Given the description of an element on the screen output the (x, y) to click on. 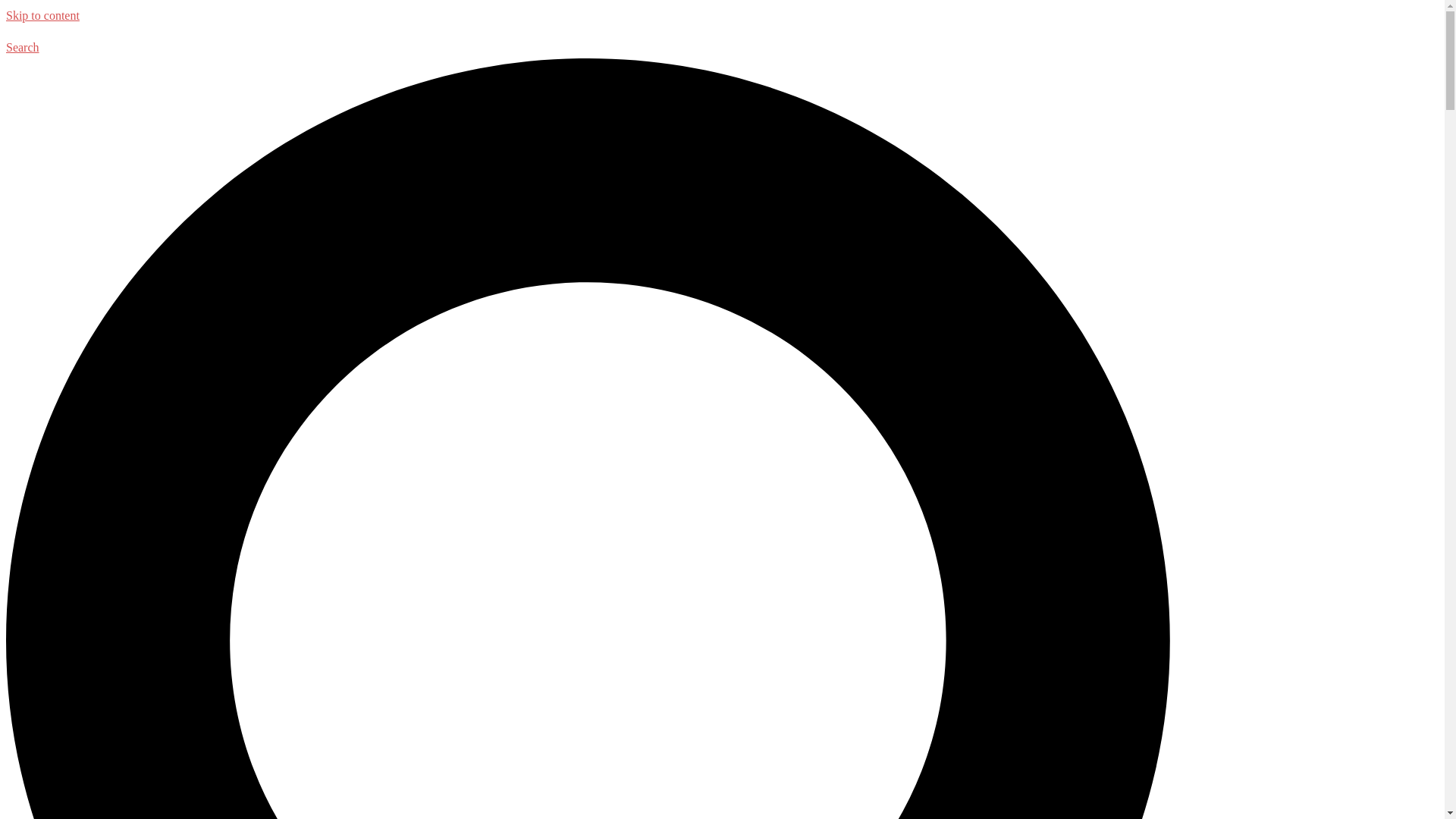
Skip to content (42, 15)
